Given the description of an element on the screen output the (x, y) to click on. 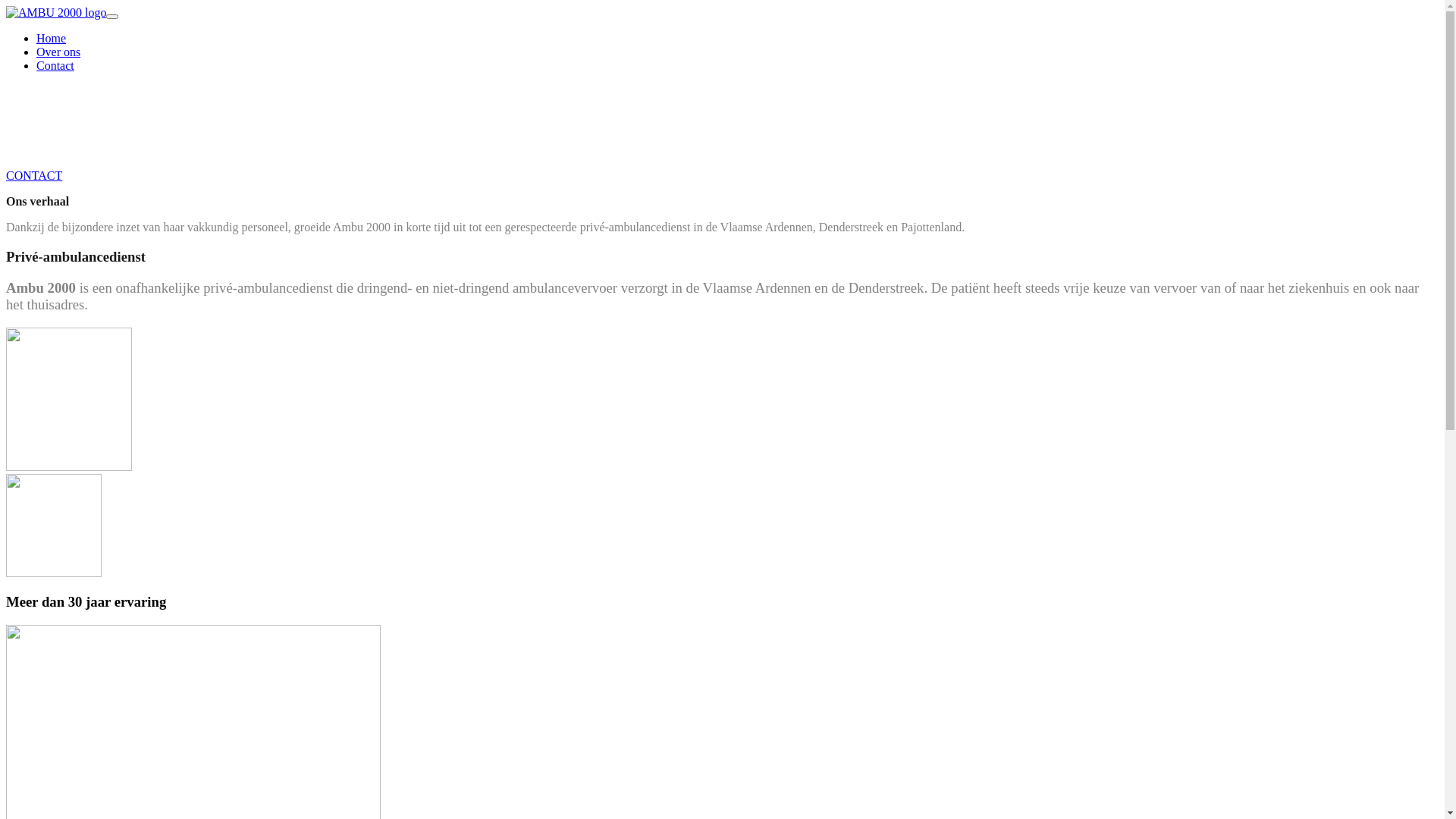
Contact Element type: text (55, 65)
CONTACT Element type: text (34, 175)
Home Element type: text (50, 37)
Menu Element type: hover (112, 16)
Over ons Element type: text (58, 51)
